Given the description of an element on the screen output the (x, y) to click on. 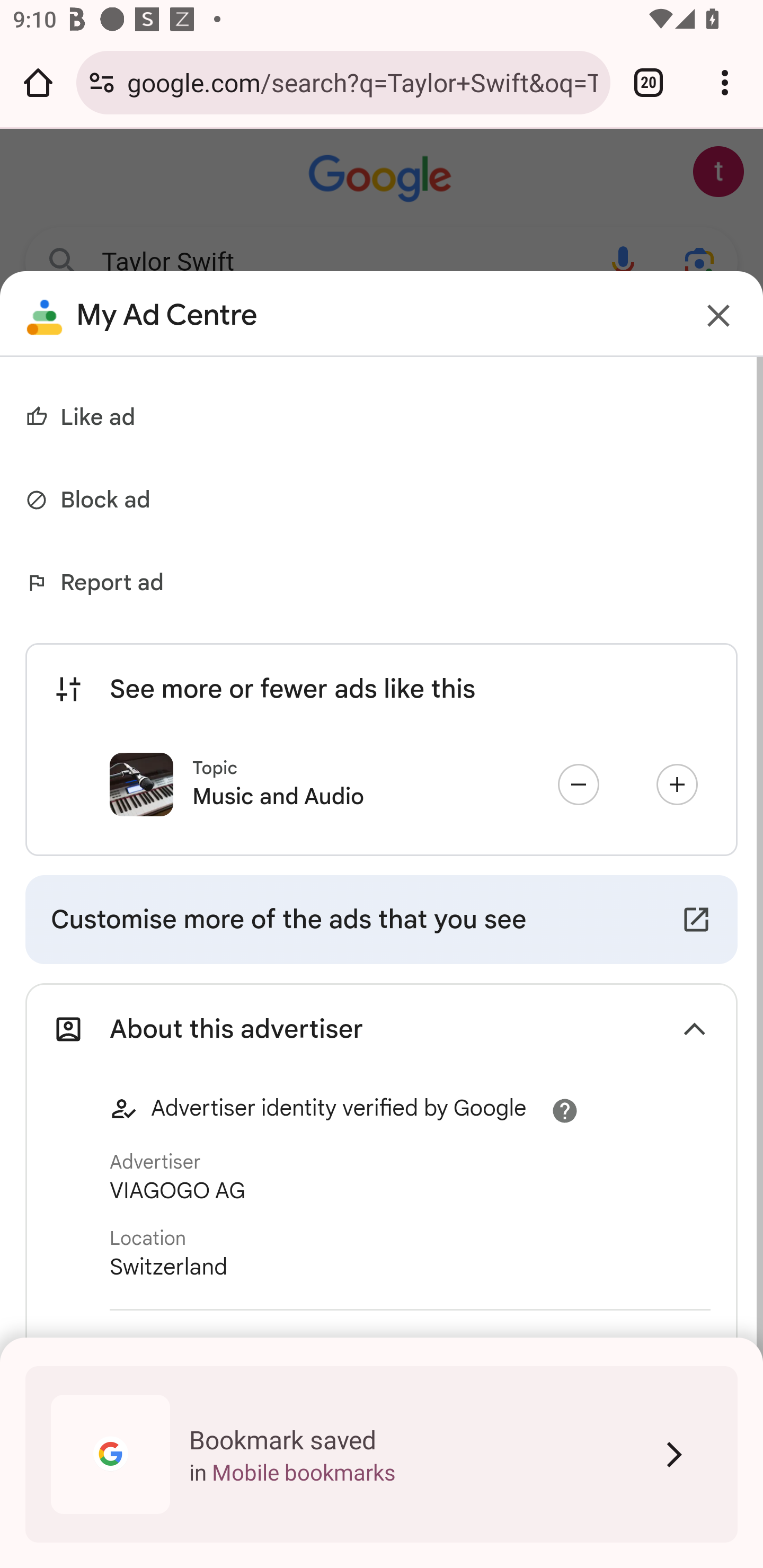
Open the home page (38, 82)
Connection is secure (101, 82)
Switch or close tabs (648, 82)
Customize and control Google Chrome (724, 82)
Edit folder Bookmark saved in Mobile bookmarks (381, 1453)
